Given the description of an element on the screen output the (x, y) to click on. 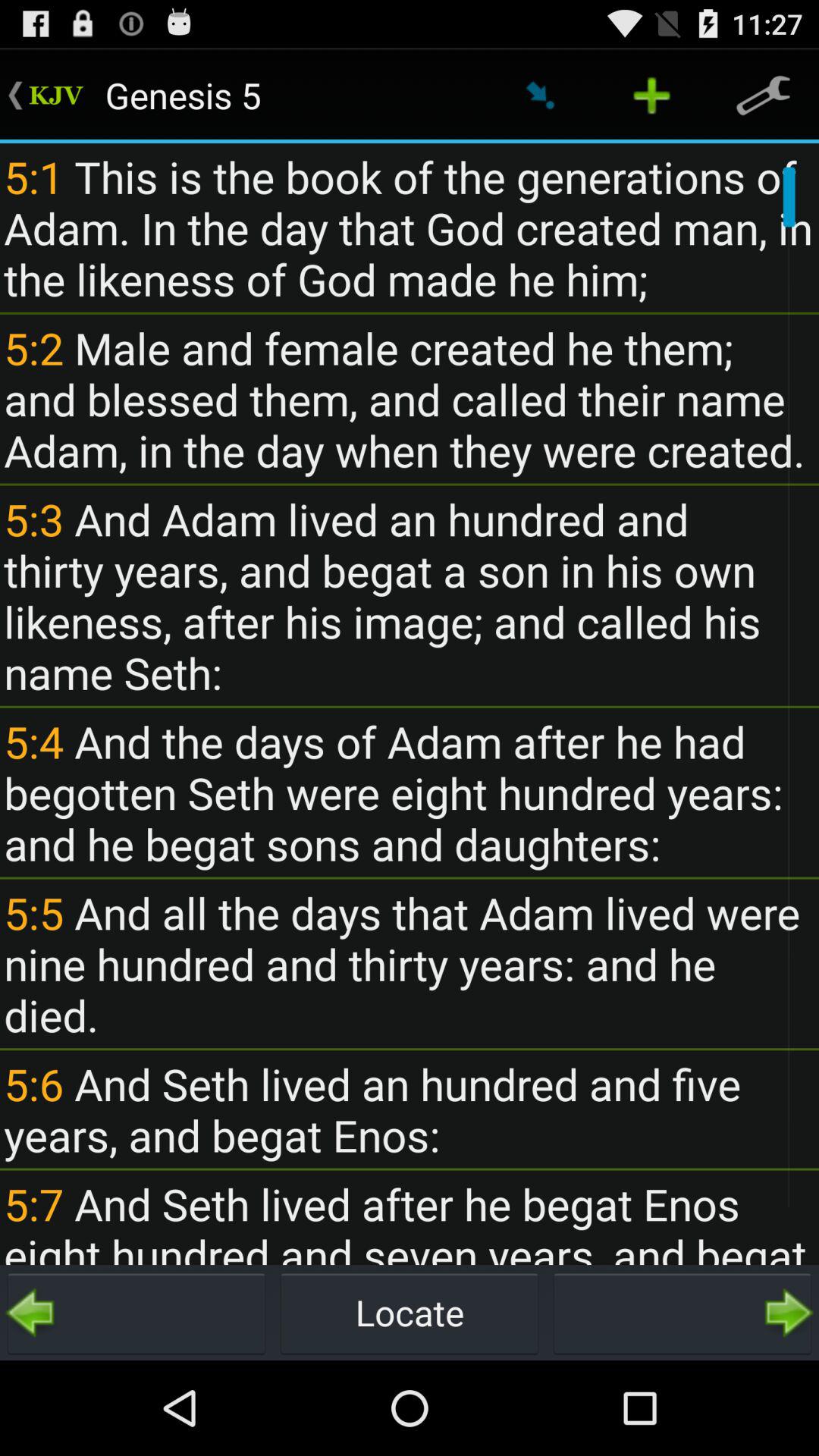
tap app below the 5 7 and item (136, 1312)
